Given the description of an element on the screen output the (x, y) to click on. 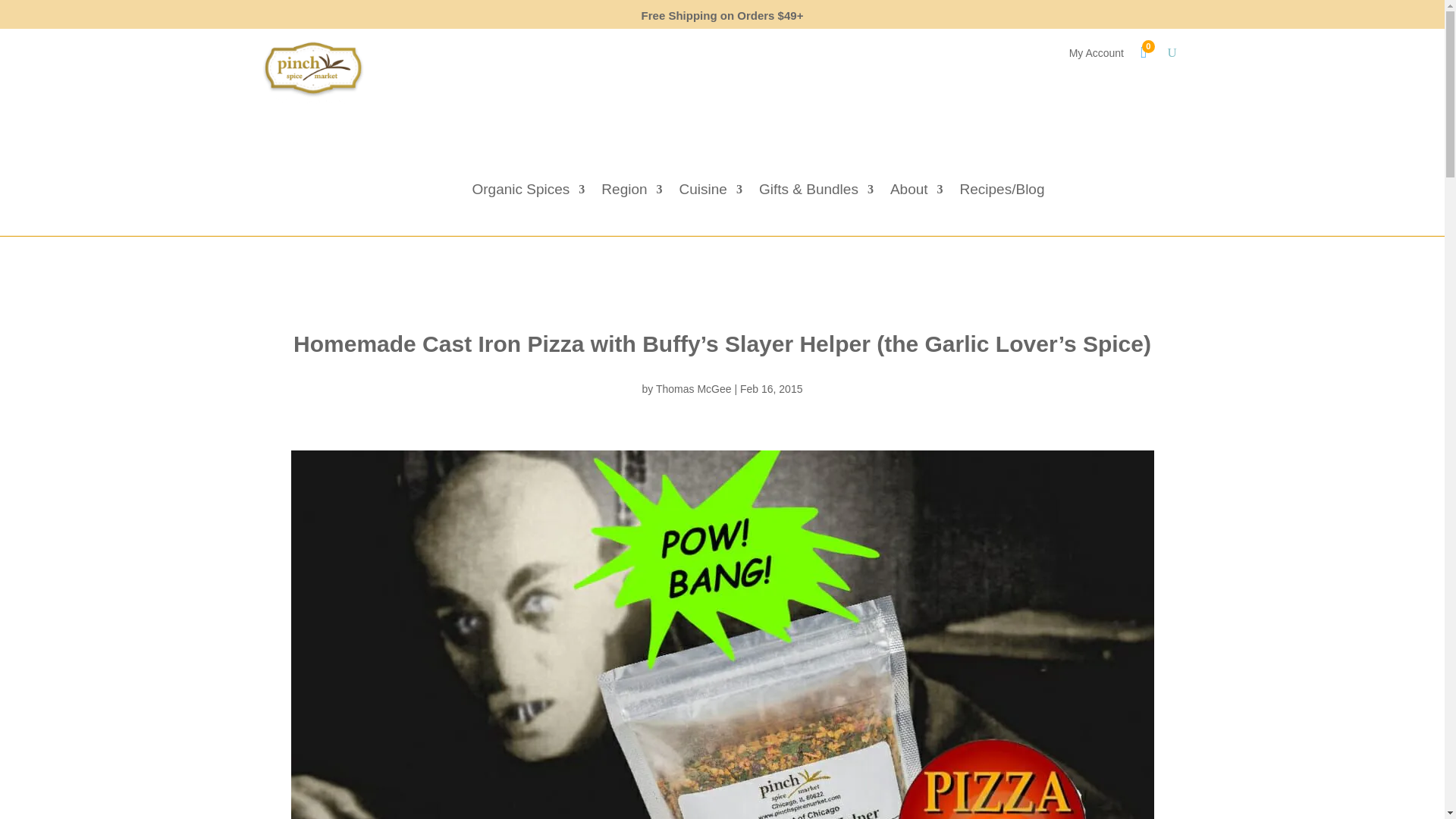
Cuisine (710, 192)
Pinch spices logo for Head (312, 72)
Region (631, 192)
My Account (1096, 55)
Organic Spices (528, 192)
